Given the description of an element on the screen output the (x, y) to click on. 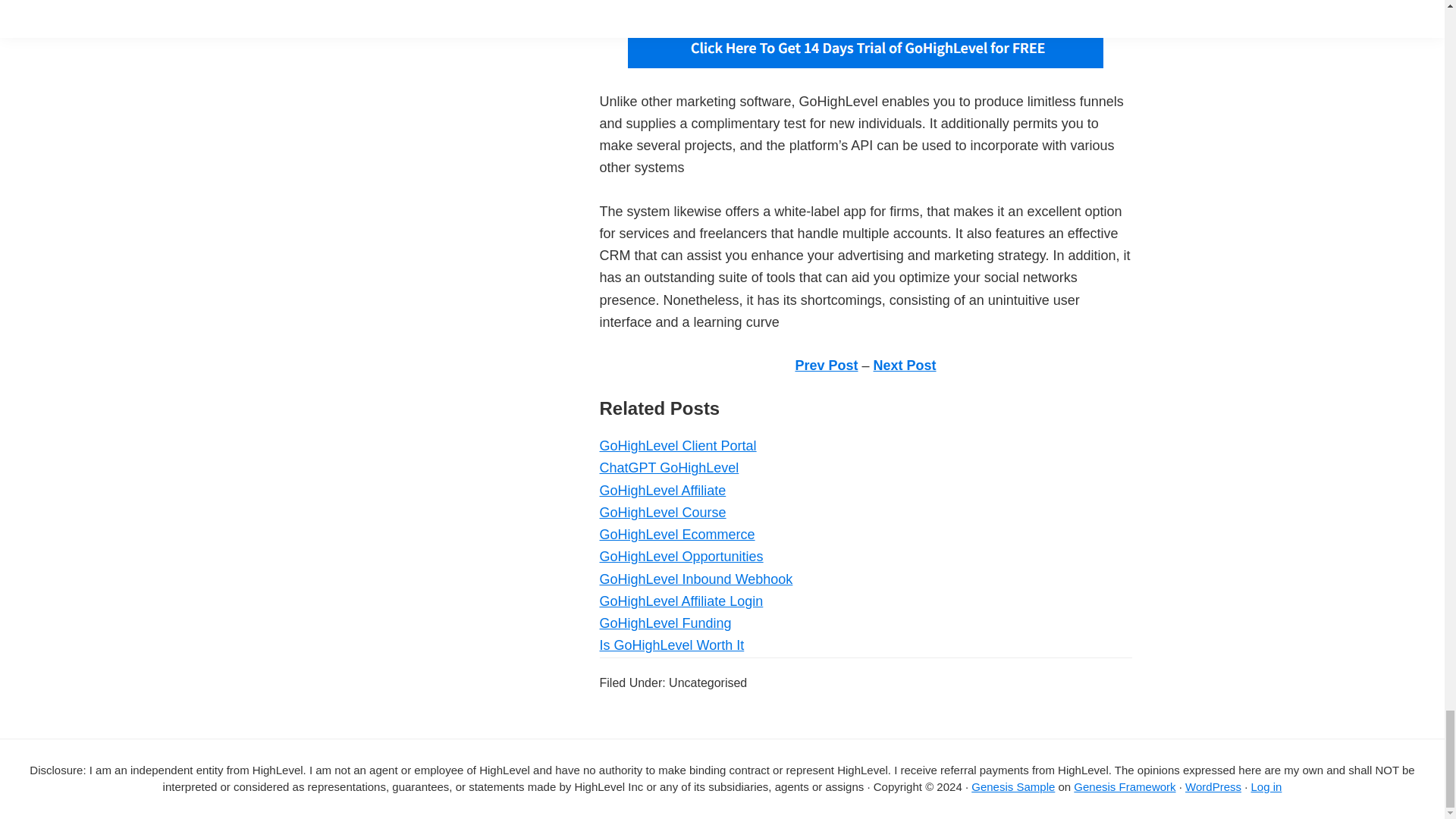
GoHighLevel Course (661, 512)
Is GoHighLevel Worth It (671, 645)
GoHighLevel Client Portal (676, 445)
GoHighLevel Opportunities (680, 556)
ChatGPT GoHighLevel (668, 467)
GoHighLevel Opportunities (680, 556)
GoHighLevel Client Portal (676, 445)
GoHighLevel Funding (664, 622)
GoHighLevel Affiliate Login (680, 601)
Genesis Framework (1124, 786)
GoHighLevel Ecommerce (676, 534)
Genesis Sample (1012, 786)
GoHighLevel Affiliate (661, 490)
Prev Post (825, 365)
WordPress (1213, 786)
